Given the description of an element on the screen output the (x, y) to click on. 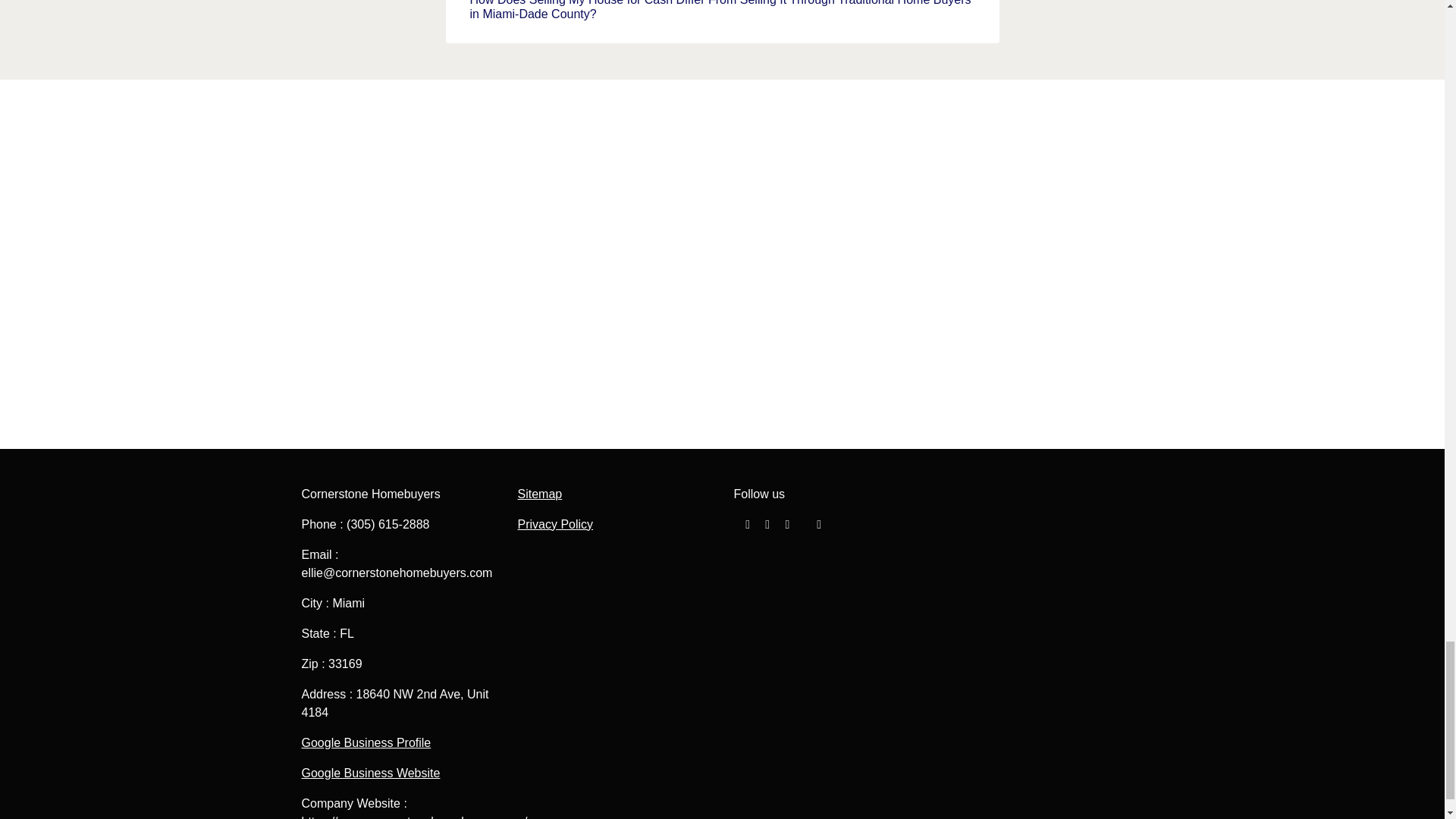
Google Business Website (371, 772)
Sitemap (539, 493)
Google Business Profile (365, 742)
Privacy Policy (554, 523)
